Given the description of an element on the screen output the (x, y) to click on. 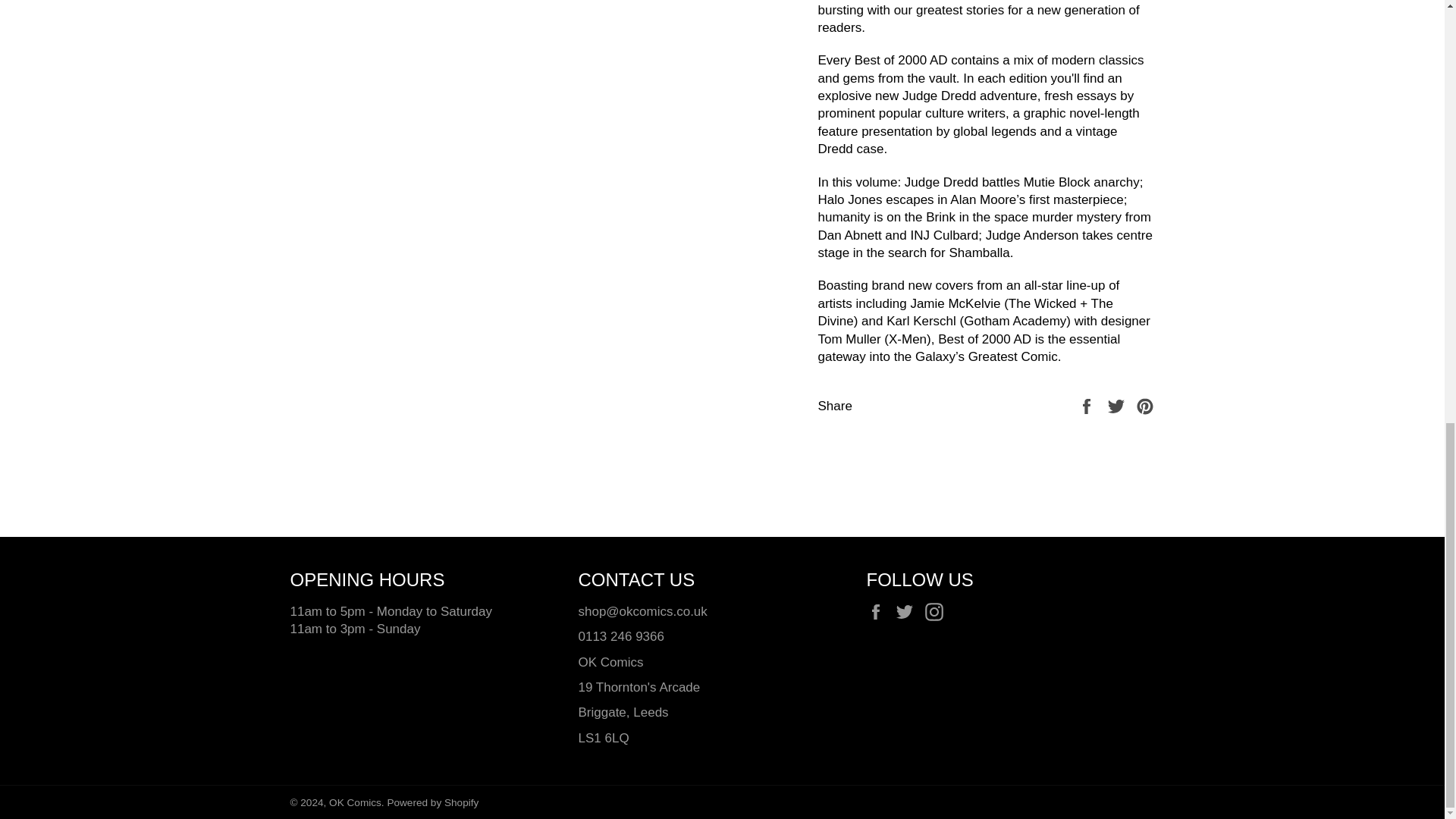
Powered by Shopify (433, 802)
Pin on Pinterest (1144, 405)
OK Comics on Twitter (908, 611)
Instagram (937, 611)
Tweet on Twitter (1117, 405)
Share on Facebook (1088, 405)
OK Comics on Instagram (937, 611)
Tweet on Twitter (1117, 405)
Twitter (908, 611)
Facebook (878, 611)
